Given the description of an element on the screen output the (x, y) to click on. 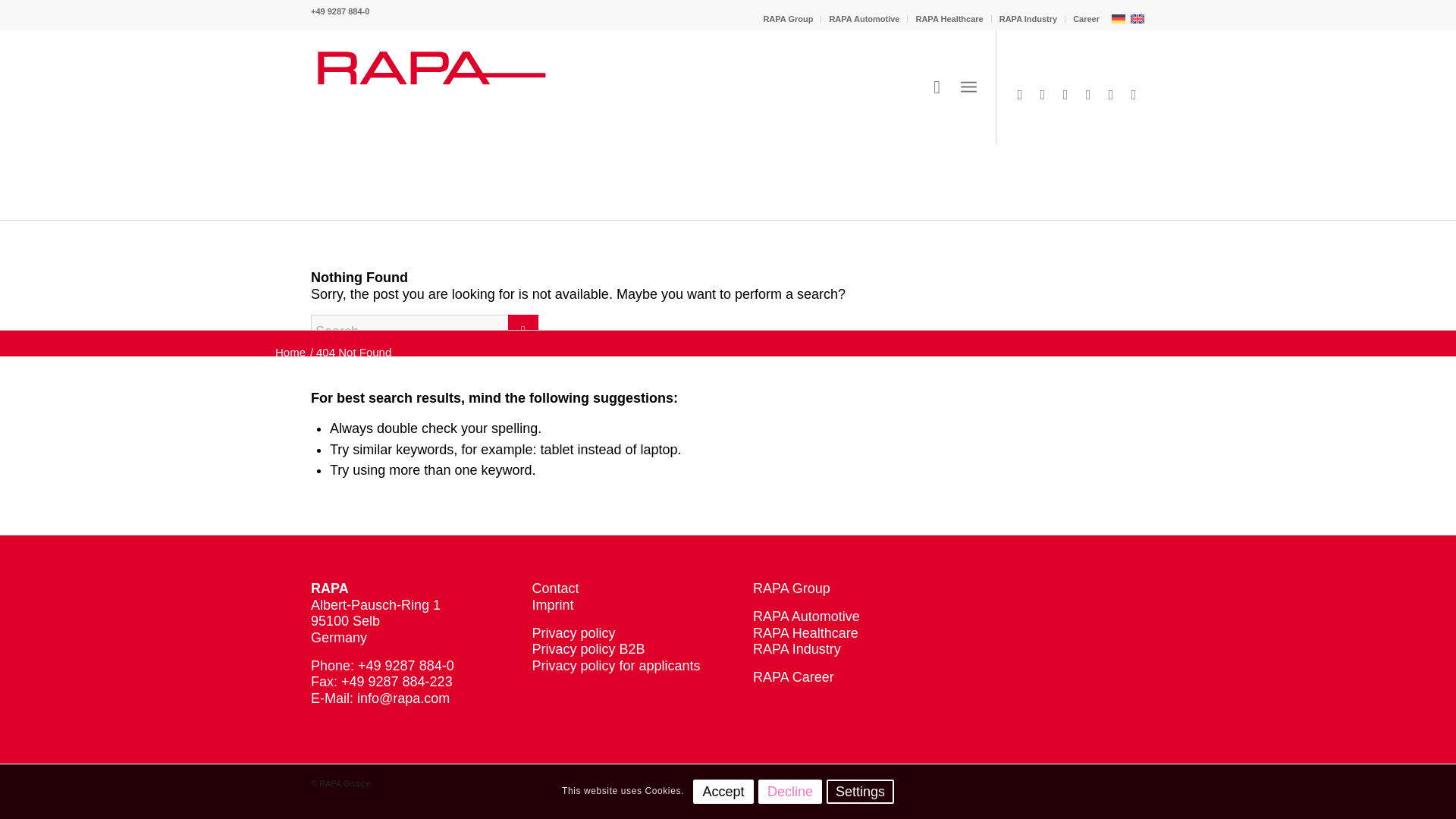
Deutsch (1117, 18)
Contact (555, 588)
Rapa (432, 87)
RAPA Group (787, 18)
Rapa (432, 87)
Career (1086, 18)
RAPA Industry (1027, 18)
RAPA Healthcare (948, 18)
RAPA Gruppe (290, 351)
Home (290, 351)
RAPA Automotive (863, 18)
English (1136, 18)
